Given the description of an element on the screen output the (x, y) to click on. 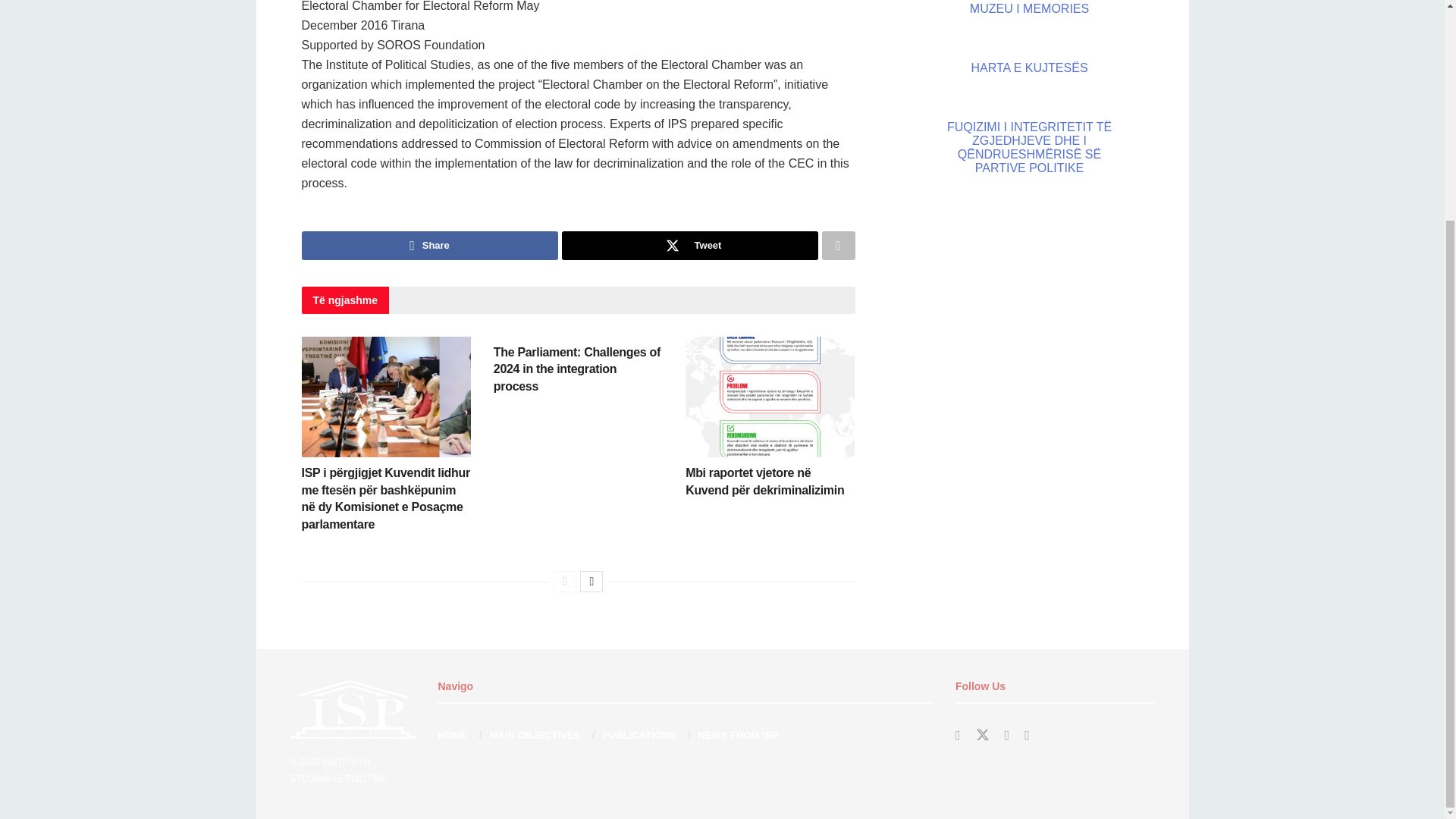
Previous (564, 581)
INSTITUTI I STUDIMEVE POLITIKE (337, 768)
Next (590, 581)
